Given the description of an element on the screen output the (x, y) to click on. 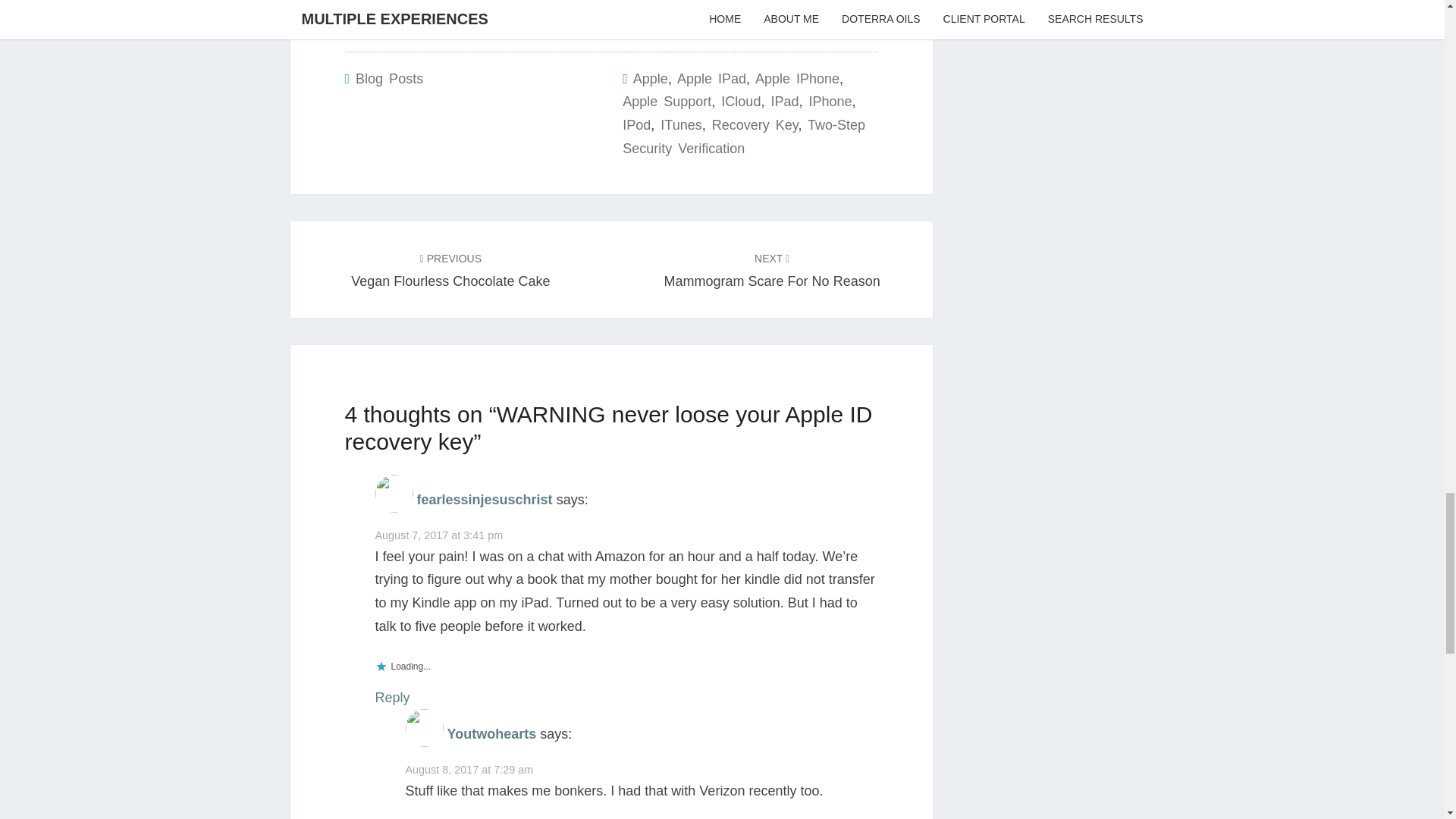
WordPress (358, 12)
Apple IPhone (797, 78)
fearlessinjesuschrist (484, 499)
Youtwohearts (491, 734)
IPhone (829, 101)
WordPress (358, 12)
August 7, 2017 at 3:41 pm (438, 535)
ICloud (450, 269)
Two-Step Security Verification (740, 101)
Apple IPad (771, 269)
Blog Posts (743, 136)
Recovery Key (711, 78)
IPod (389, 78)
